Given the description of an element on the screen output the (x, y) to click on. 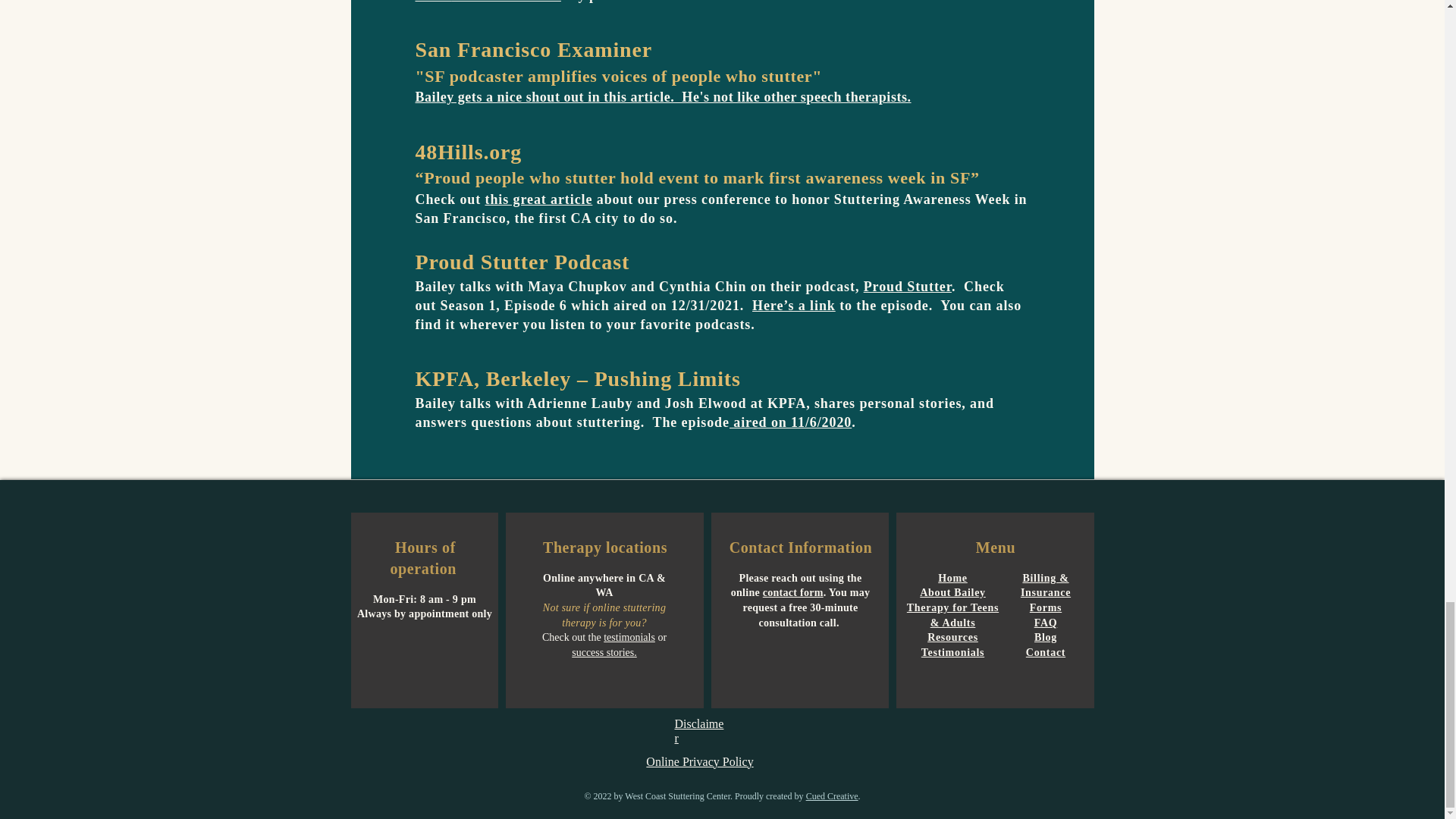
this great article (538, 199)
Proud Stutter (907, 286)
Conference here.  (505, 1)
success stories. (604, 652)
testimonials (629, 636)
